Given the description of an element on the screen output the (x, y) to click on. 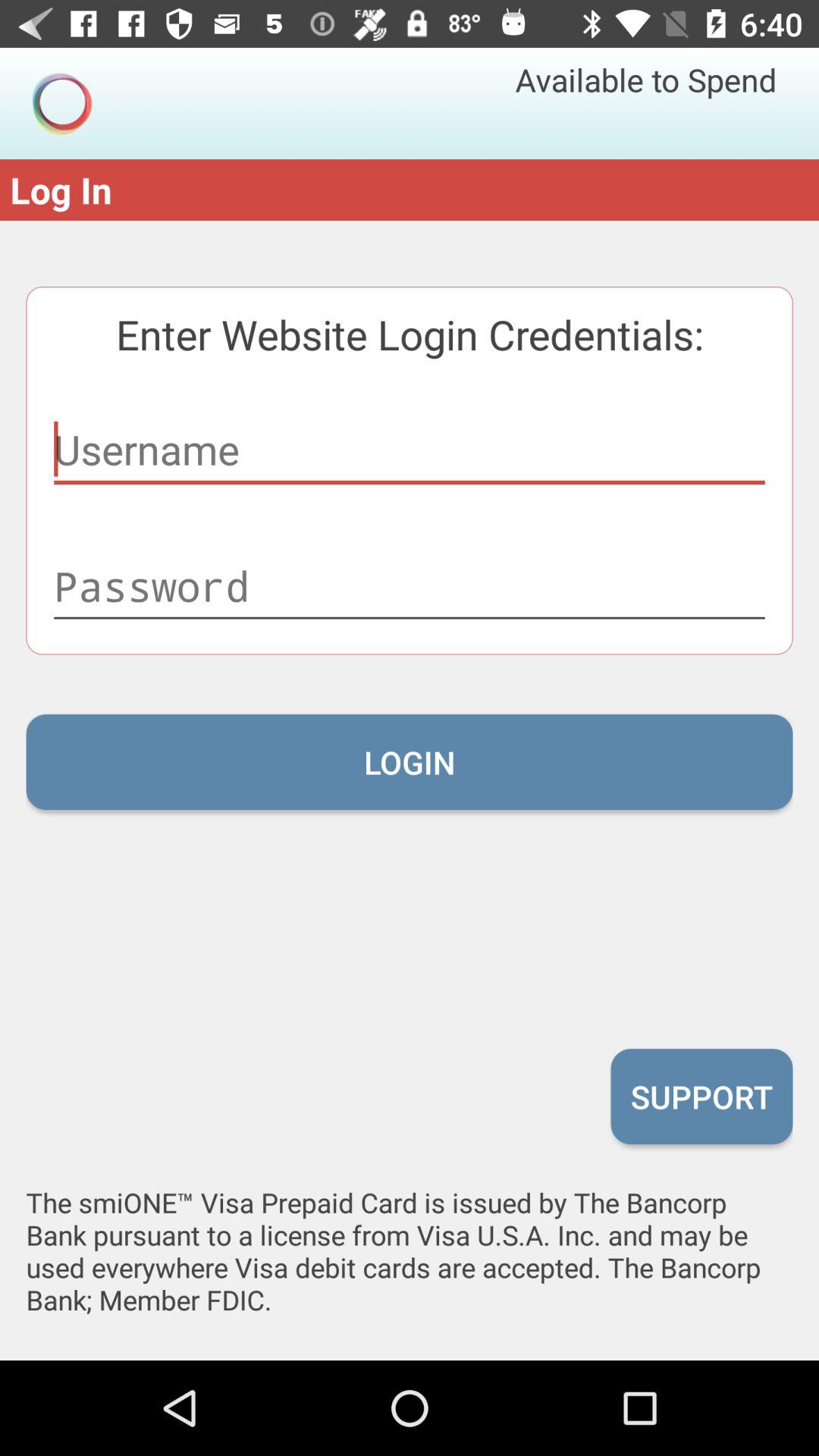
type password (409, 586)
